Given the description of an element on the screen output the (x, y) to click on. 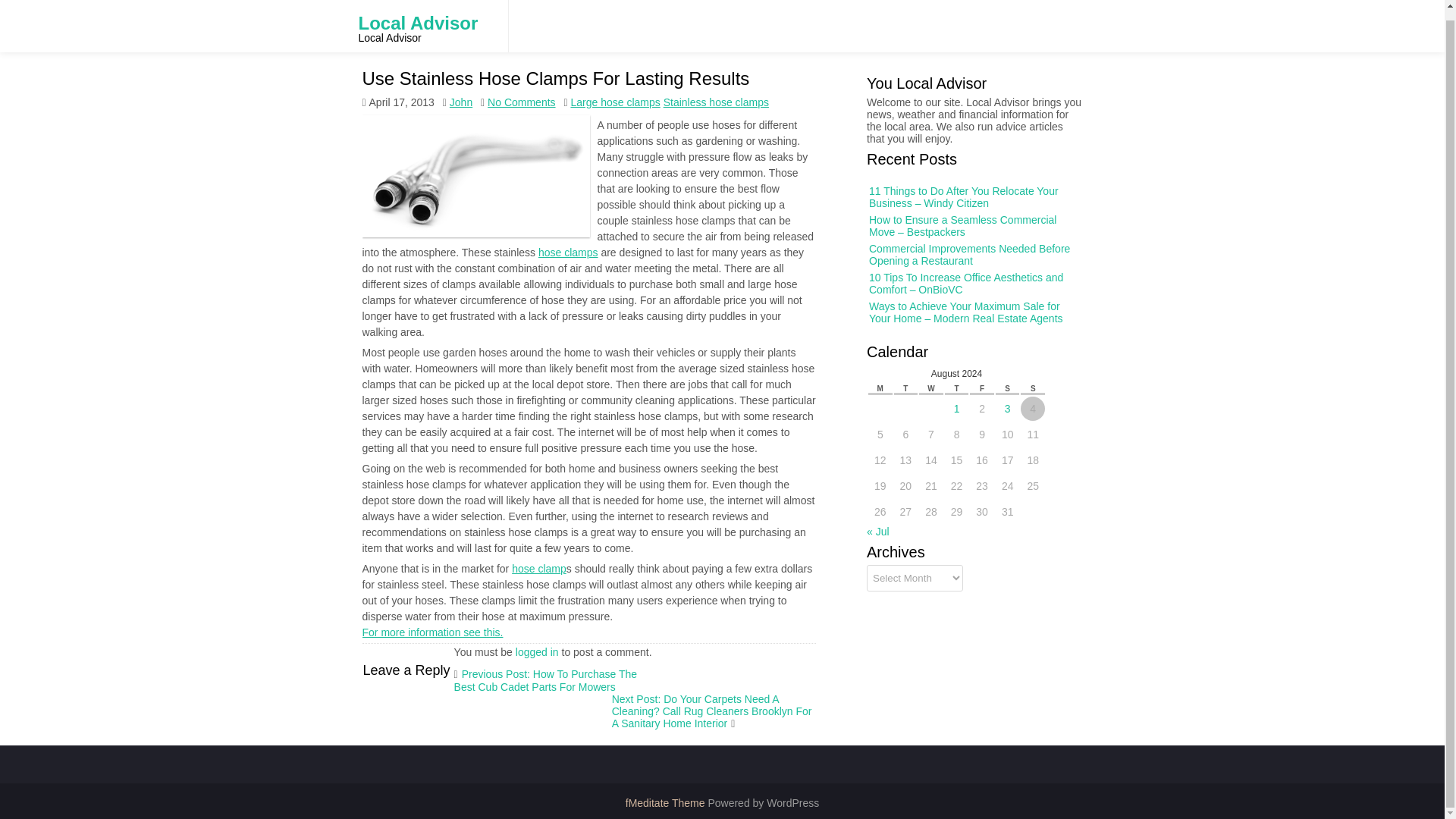
Large hose clamps, Stainless hose clamps (540, 568)
Saturday (1005, 386)
logged in (537, 652)
Thursday (958, 385)
No Comments (520, 102)
Local Advisor (417, 19)
Sunday (1029, 386)
Tuesday (912, 384)
John (460, 102)
